Given the description of an element on the screen output the (x, y) to click on. 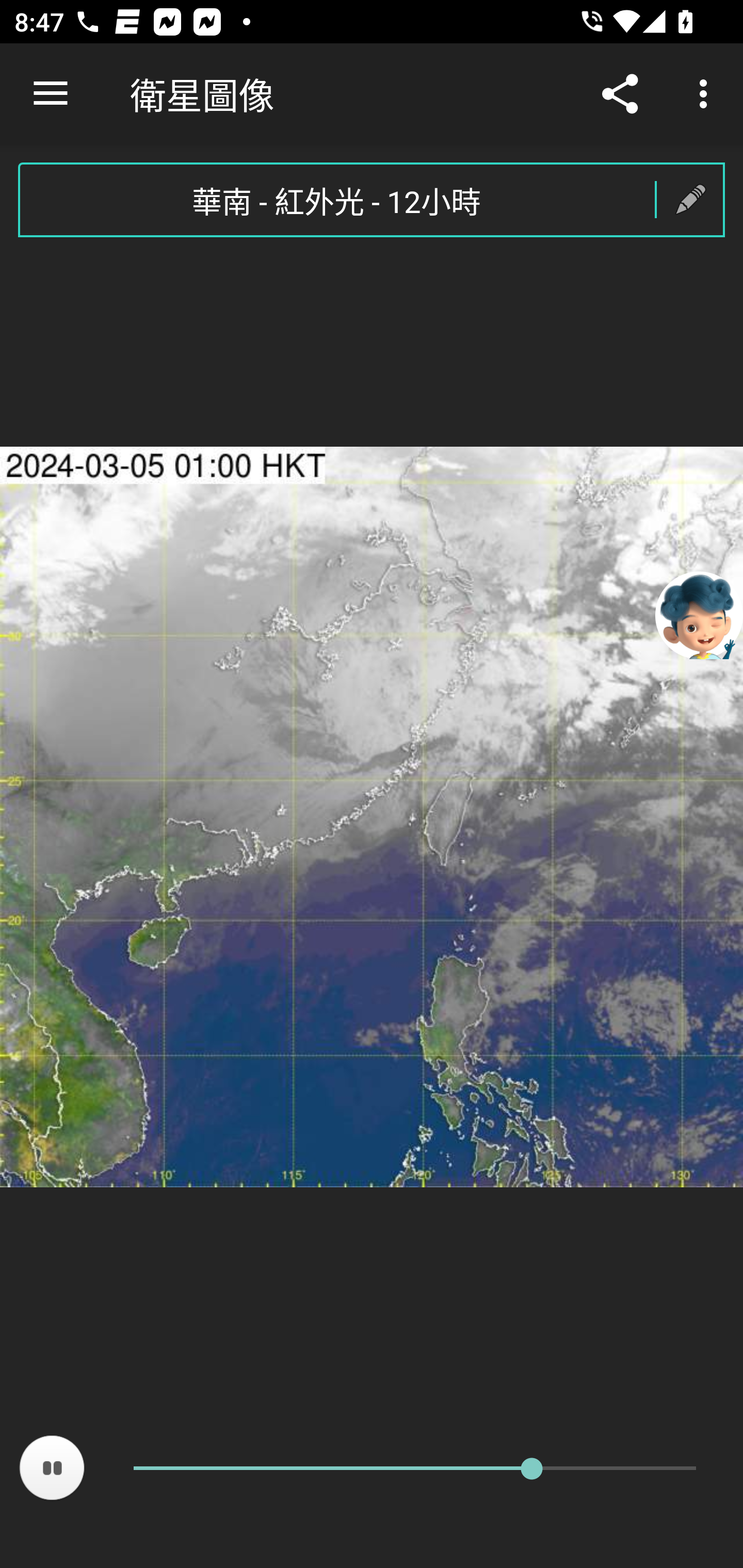
向上瀏覽 (50, 93)
分享 (619, 93)
更多選項 (706, 93)
華南 - 紅外光 - 12小時 編輯 (371, 199)
聊天機械人 (699, 614)
暫停 (51, 1468)
